Given the description of an element on the screen output the (x, y) to click on. 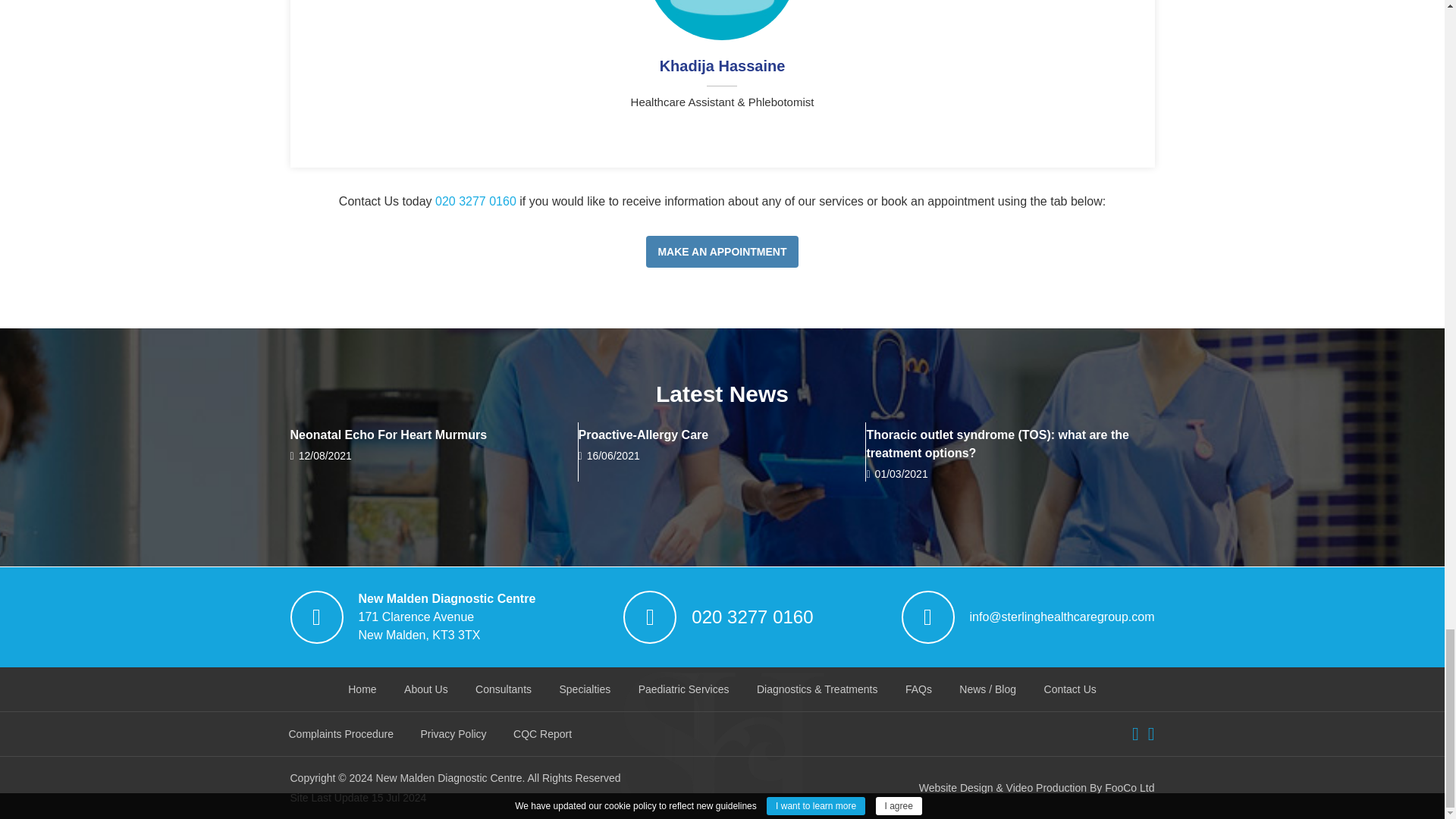
FooCo Ltd (1002, 787)
Mail Us (1061, 617)
Location (446, 616)
Call Us (751, 617)
Facebook (1135, 733)
Instagram (1151, 733)
FooCo Ltd (1129, 787)
